Given the description of an element on the screen output the (x, y) to click on. 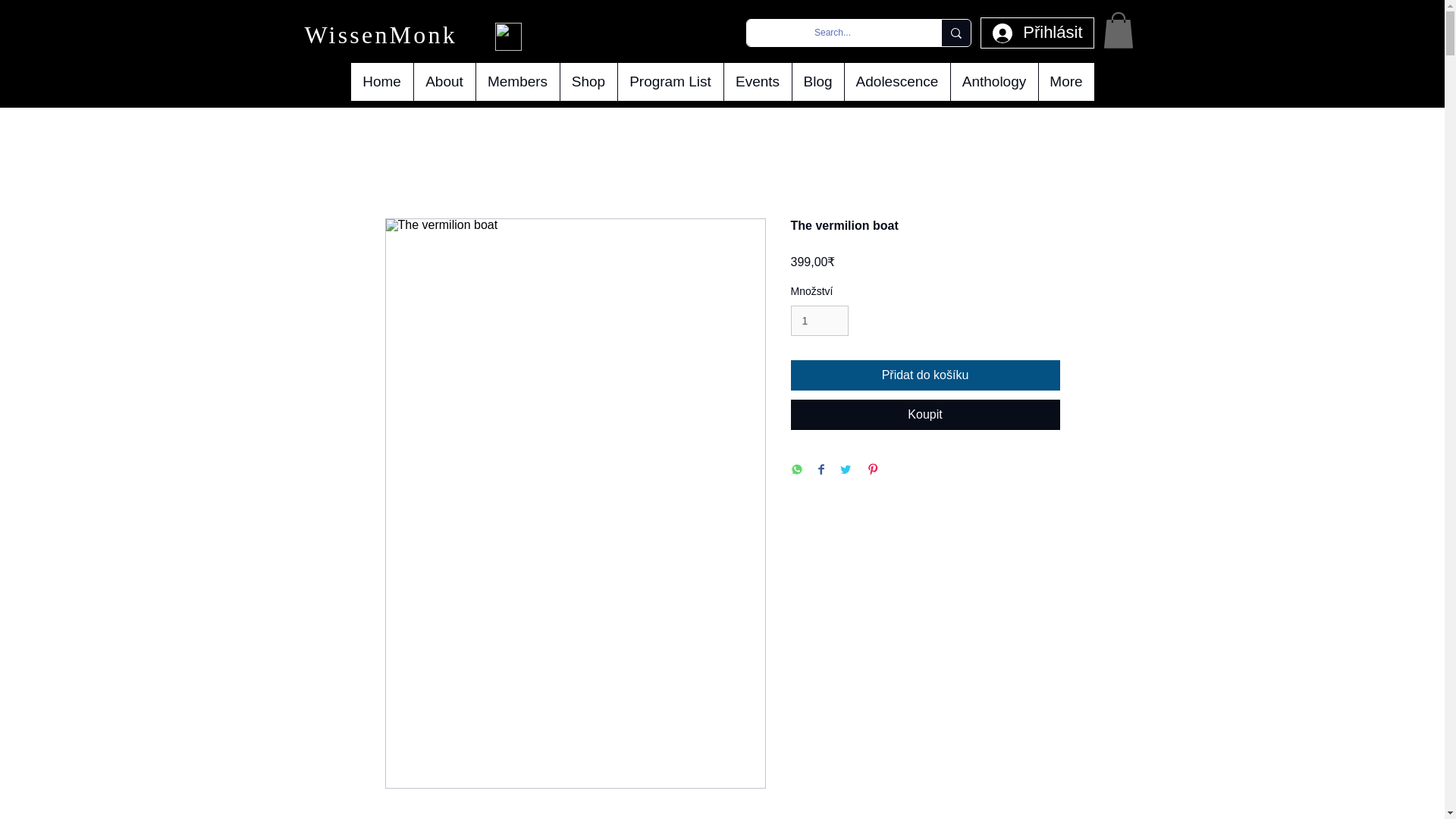
1 (818, 320)
Adolescence (896, 81)
About (443, 81)
Home (381, 81)
Events (757, 81)
WissenMonk  (384, 34)
Blog (818, 81)
Anthology (992, 81)
Members (516, 81)
Program List (670, 81)
Shop (588, 81)
